Given the description of an element on the screen output the (x, y) to click on. 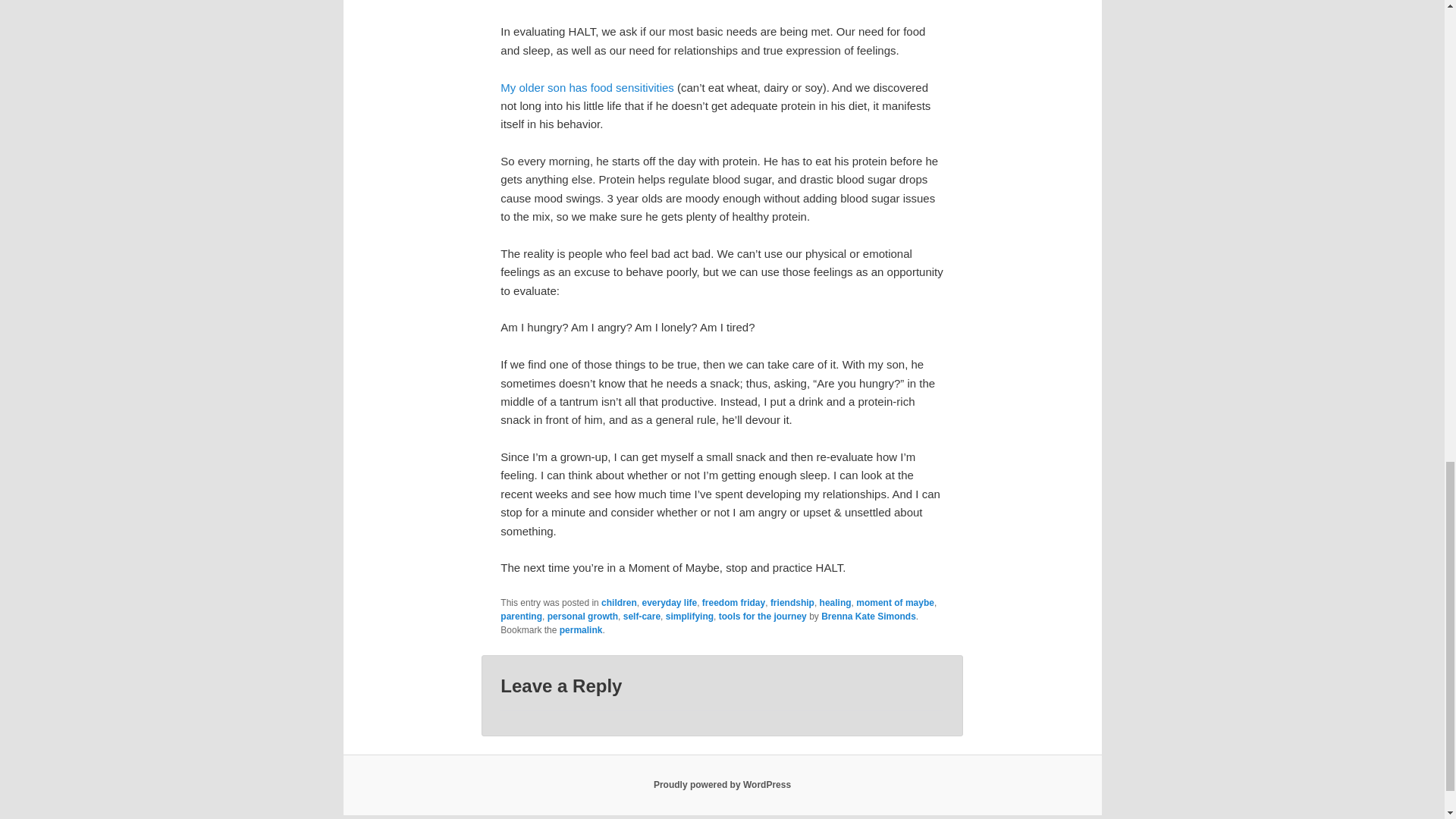
healing (835, 602)
My older son has food sensitivities (586, 87)
permalink (580, 629)
children (619, 602)
moment of maybe (895, 602)
Semantic Personal Publishing Platform (721, 784)
freedom friday (733, 602)
self-care (642, 615)
tools for the journey (762, 615)
parenting (520, 615)
Brenna Kate Simonds (868, 615)
simplifying (689, 615)
friendship (791, 602)
everyday life (669, 602)
